Given the description of an element on the screen output the (x, y) to click on. 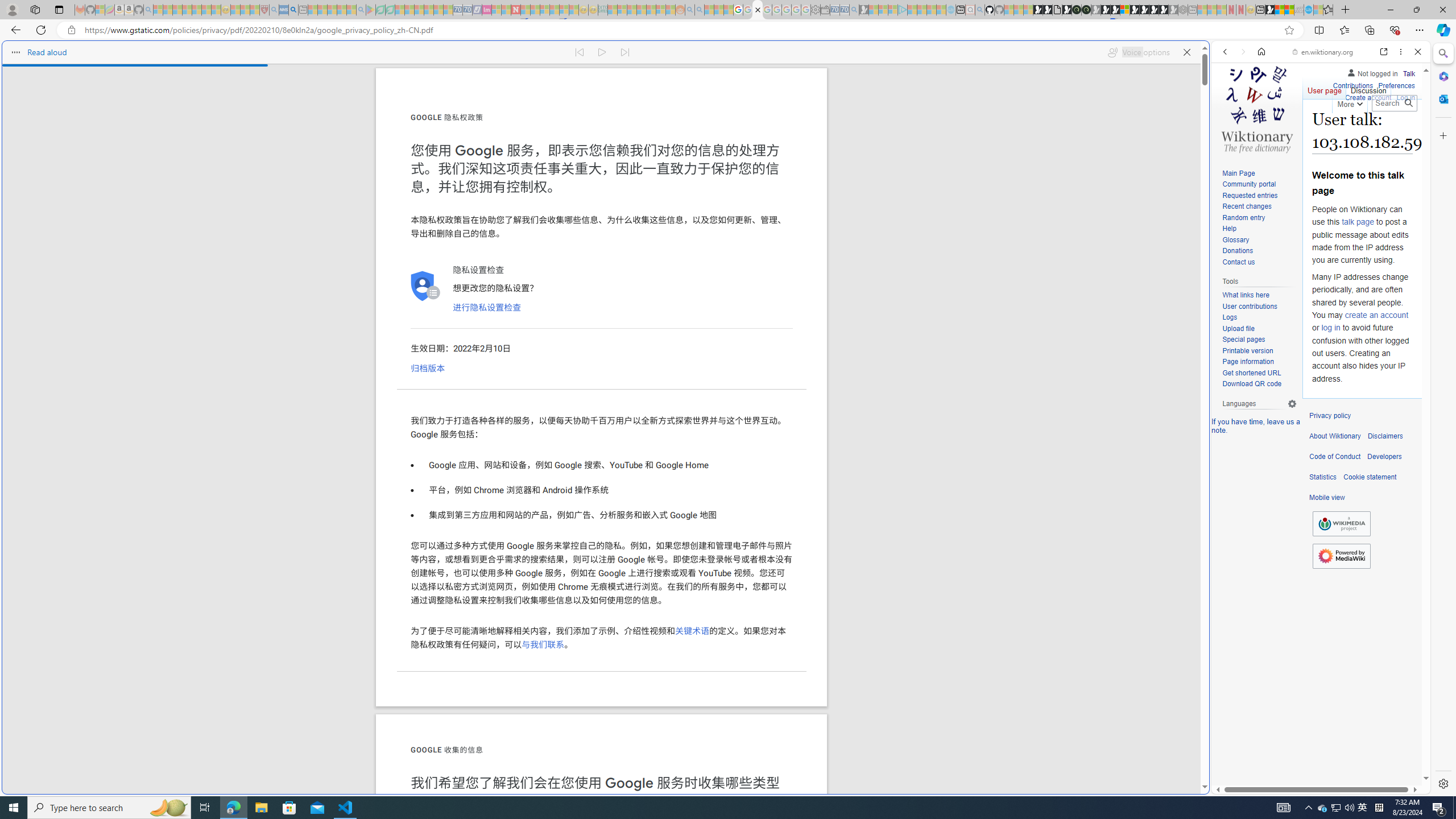
Main Page (1259, 173)
Powered by MediaWiki (1341, 556)
Wallet - Sleeping (824, 9)
Log in (1405, 98)
